Given the description of an element on the screen output the (x, y) to click on. 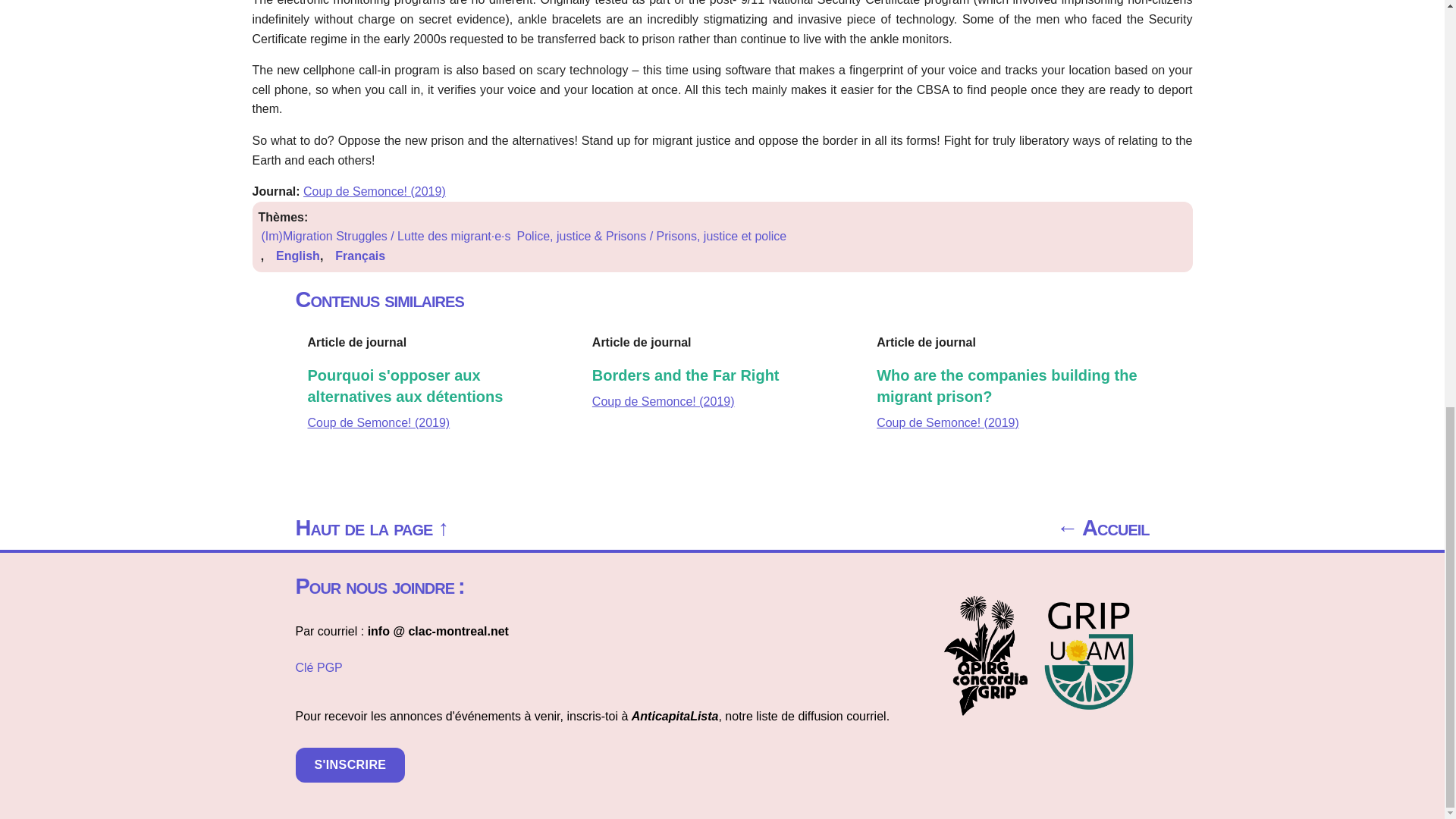
S'inscrire (350, 764)
English (298, 255)
